Given the description of an element on the screen output the (x, y) to click on. 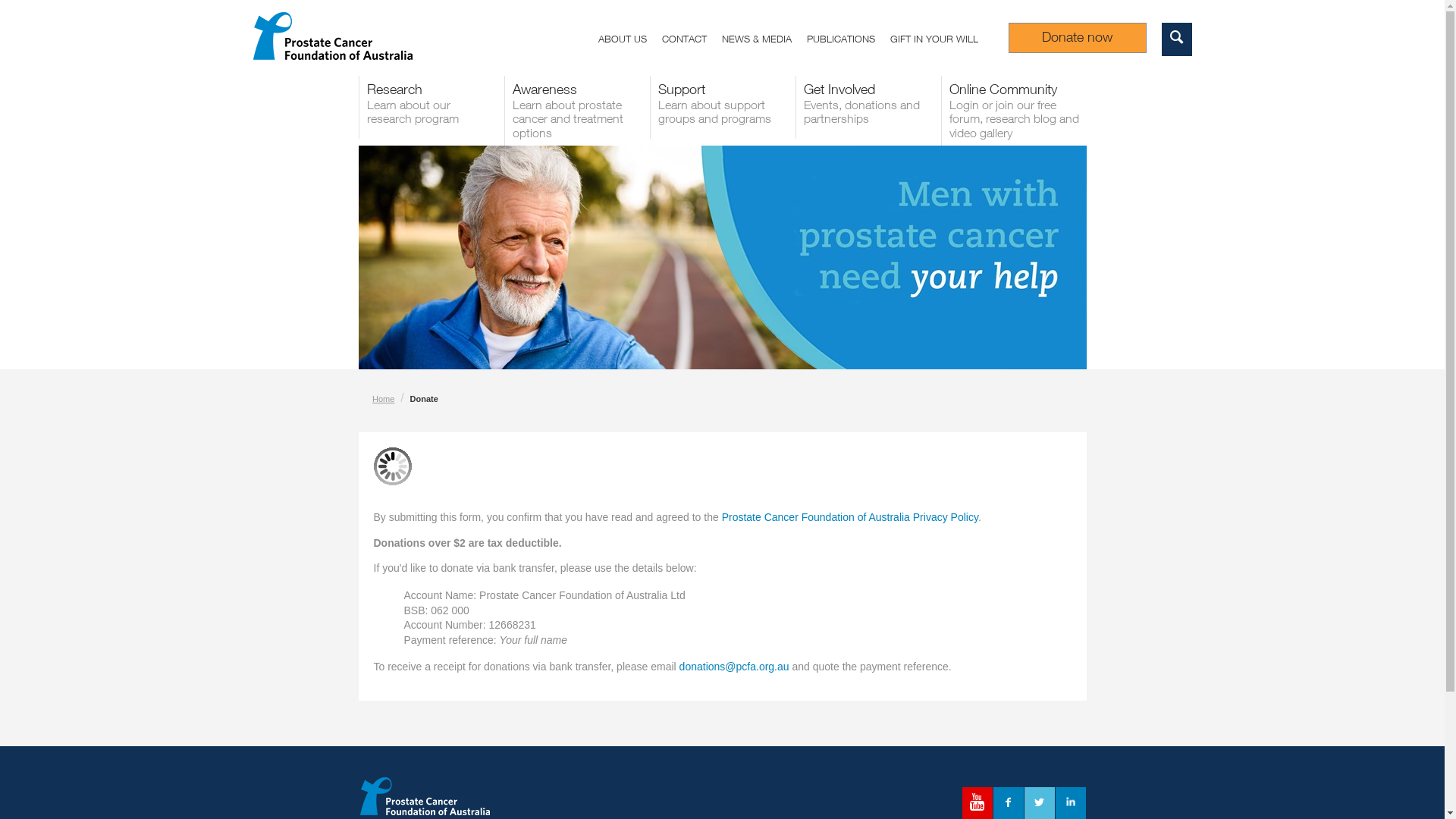
Support
Learn about support groups and programs Element type: text (721, 106)
Prostate Cancer Foundation of Australia Privacy Policy Element type: text (849, 517)
Donate now Element type: text (1077, 37)
Get Involved
Events, donations and partnerships Element type: text (867, 106)
NEWS & MEDIA Element type: text (763, 40)
CONTACT Element type: text (691, 40)
Awareness
Learn about prostate cancer and treatment options Element type: text (576, 110)
donations@pcfa.org.au Element type: text (734, 666)
Home Element type: text (383, 398)
ABOUT US Element type: text (629, 40)
Research
Learn about our research program Element type: text (430, 106)
PUBLICATIONS Element type: text (848, 40)
GIFT IN YOUR WILL Element type: text (941, 40)
